Given the description of an element on the screen output the (x, y) to click on. 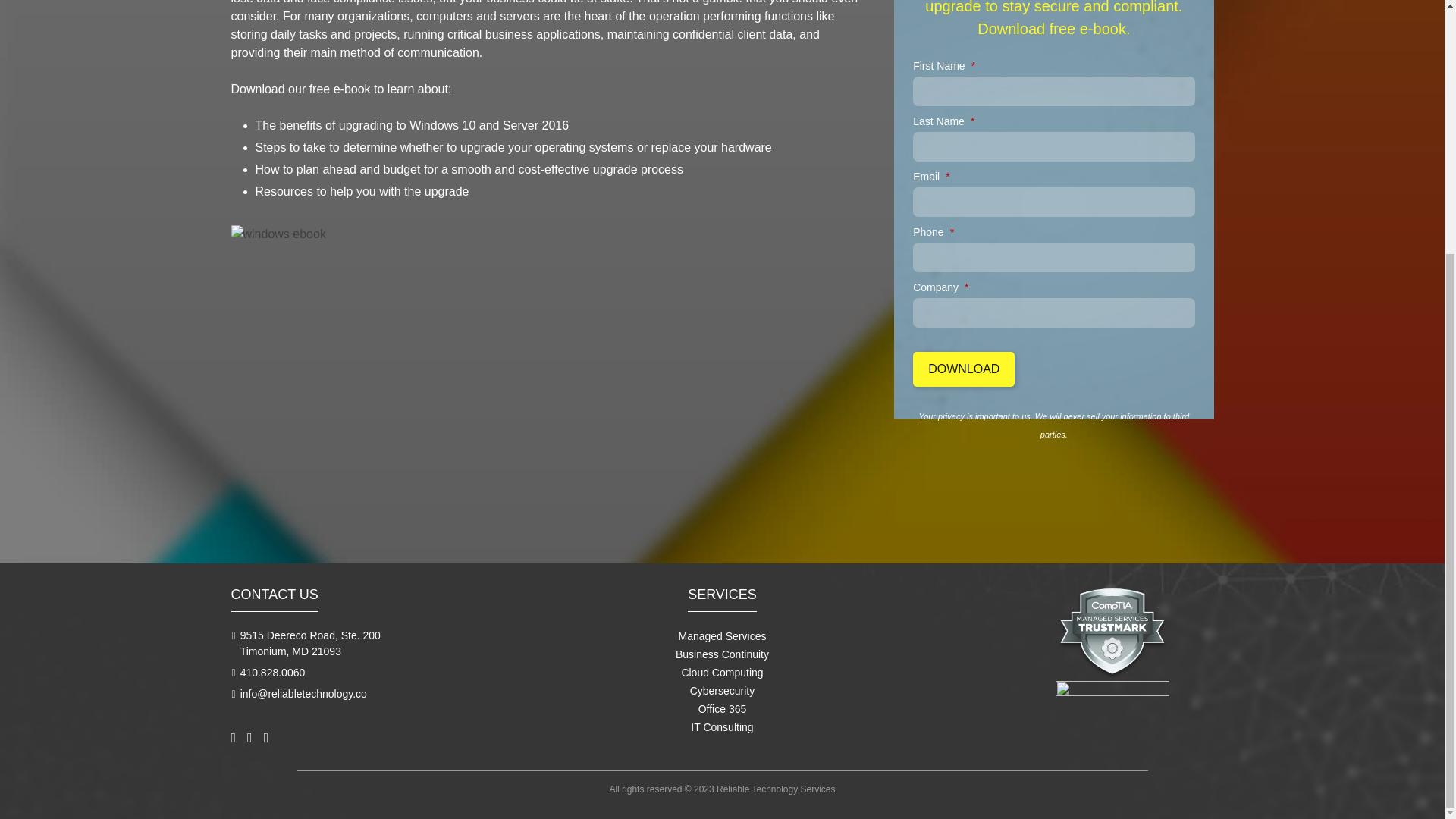
Cybersecurity (722, 690)
Business Continuity (721, 654)
9515 Deereco Road, Ste. 200 (310, 635)
Download (963, 369)
Download (963, 369)
Office 365 (722, 708)
Cloud Computing (721, 672)
IT Consulting (721, 727)
Managed Services (721, 635)
410.828.0060 (272, 672)
